Given the description of an element on the screen output the (x, y) to click on. 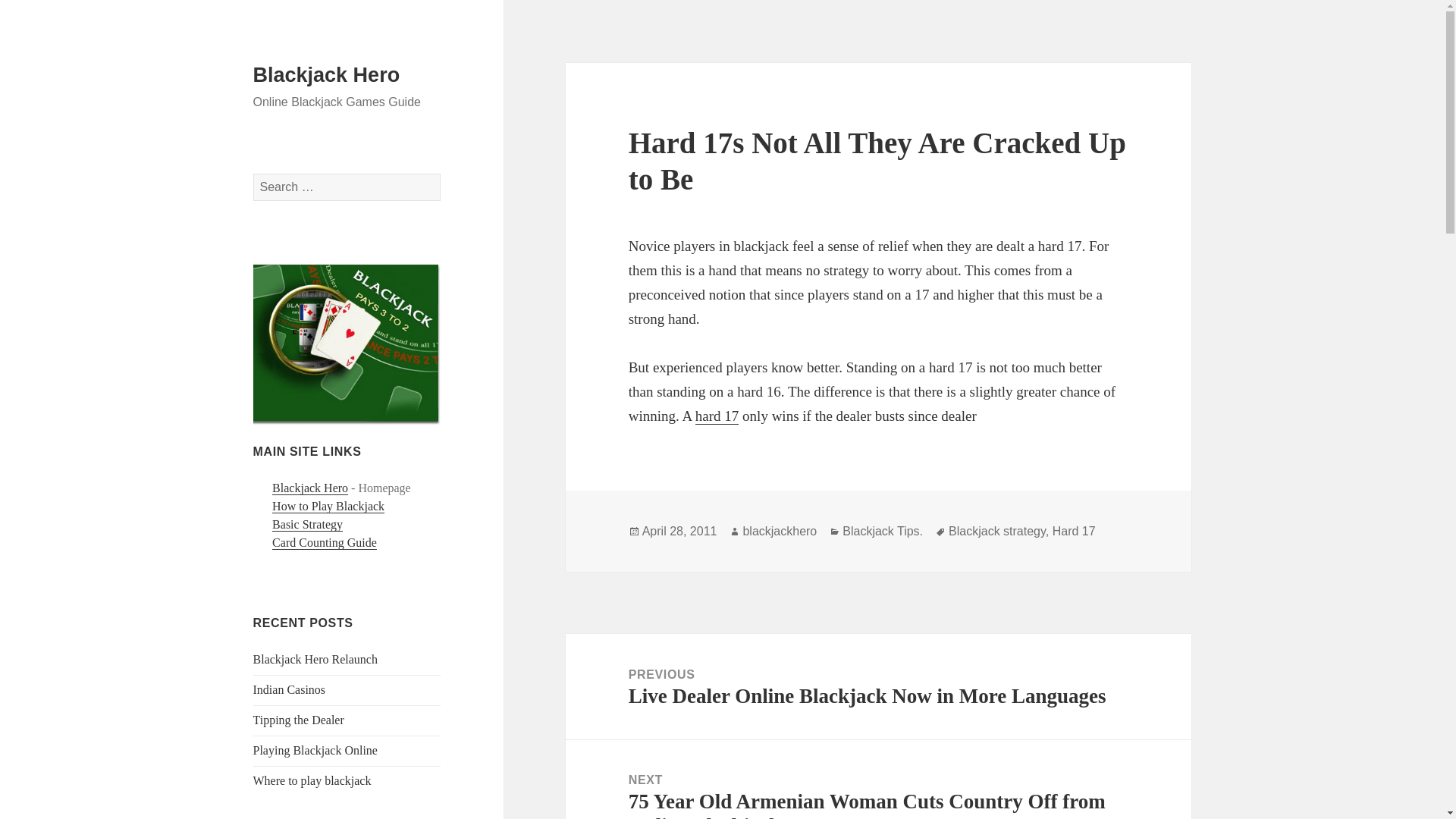
Basic Strategy (307, 524)
Tipping the Dealer (298, 719)
How to Play Blackjack (328, 506)
Card Counting Guide (324, 542)
Blackjack Hero (309, 488)
Playing Blackjack Online (315, 749)
Blackjack Hero (326, 74)
Indian Casinos (289, 689)
